Given the description of an element on the screen output the (x, y) to click on. 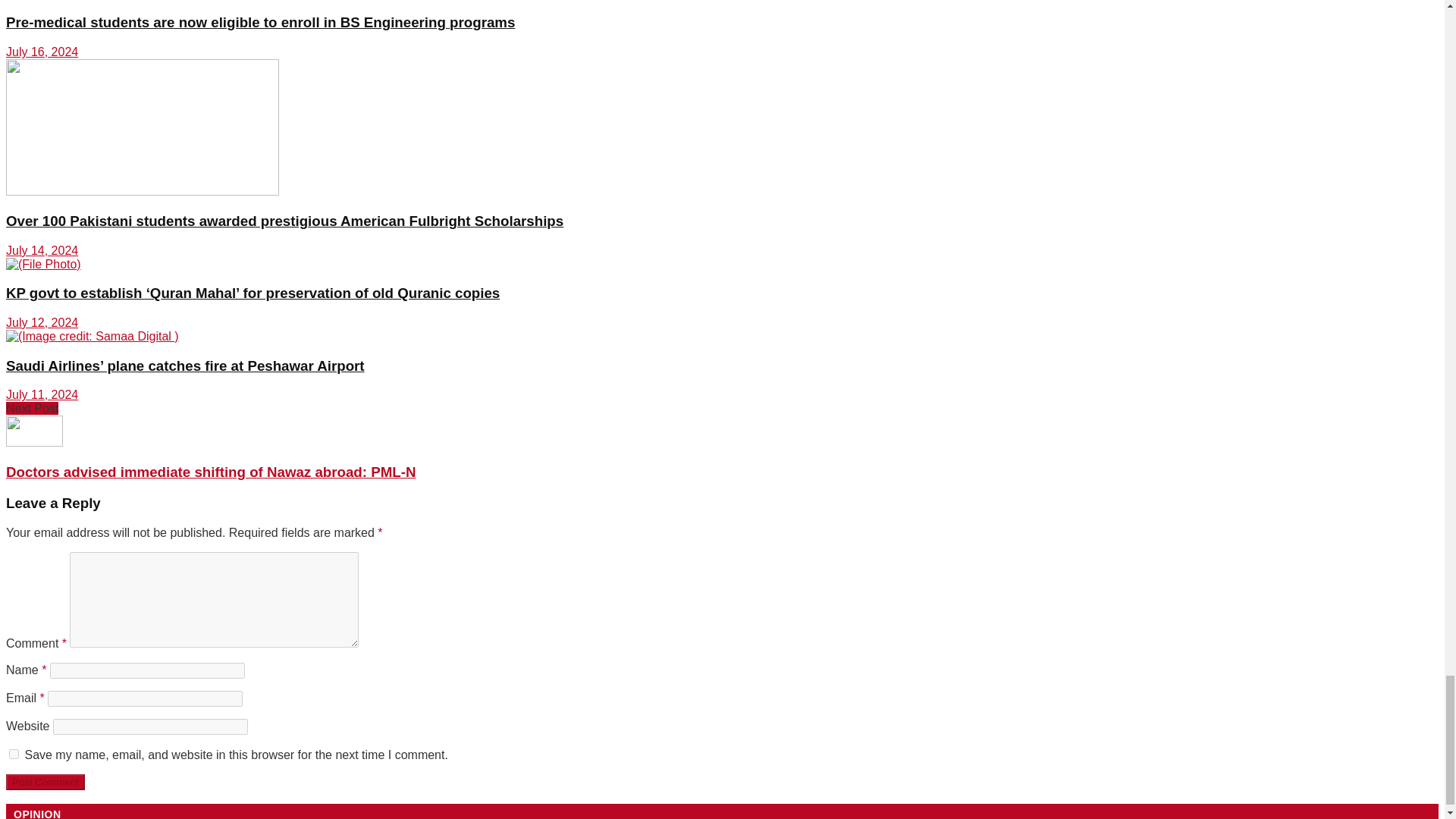
yes (13, 754)
Post Comment (44, 781)
